Given the description of an element on the screen output the (x, y) to click on. 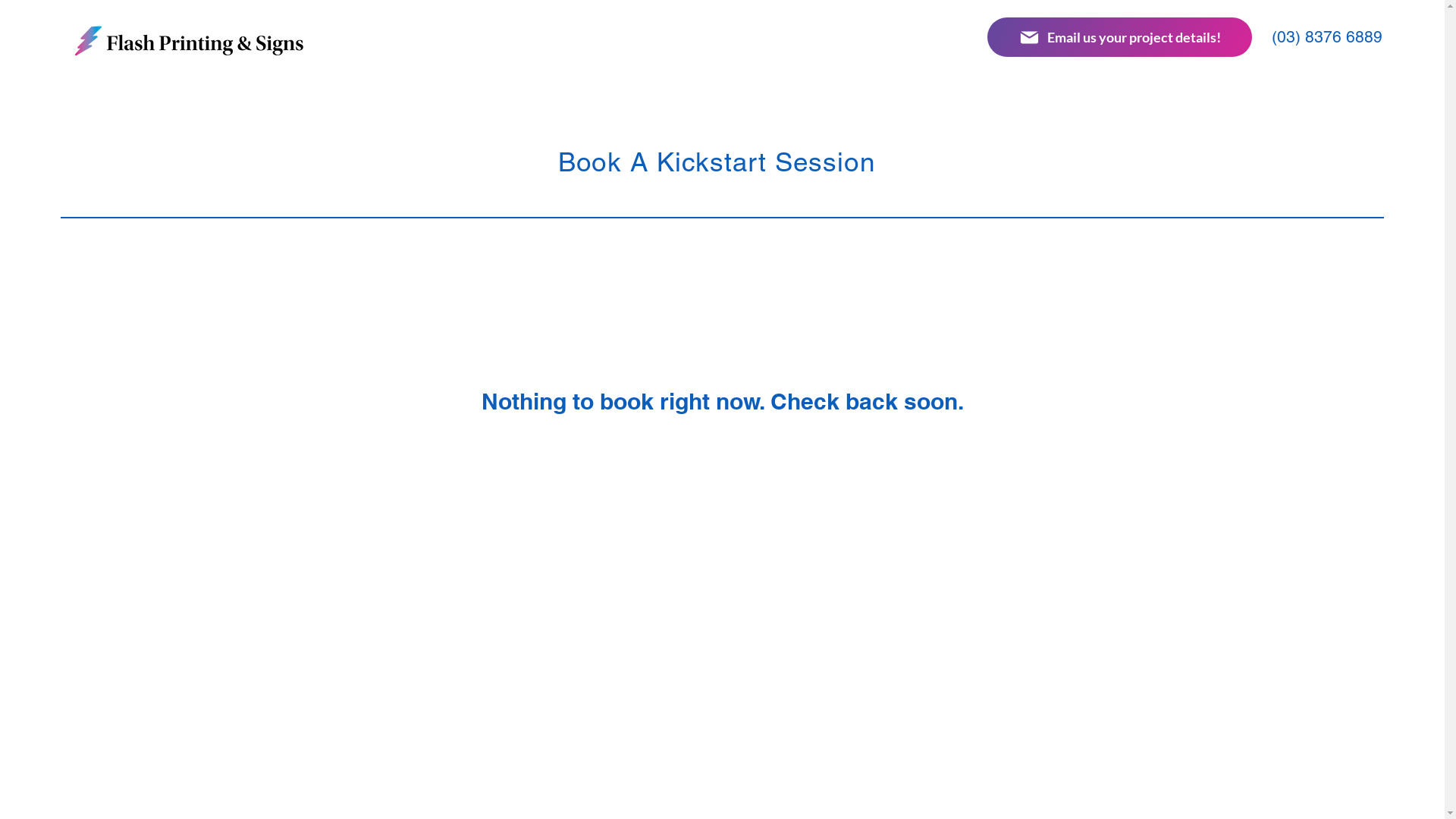
Flash Printing and Signs Element type: hover (190, 40)
Email us your project details! Element type: text (1119, 36)
